Given the description of an element on the screen output the (x, y) to click on. 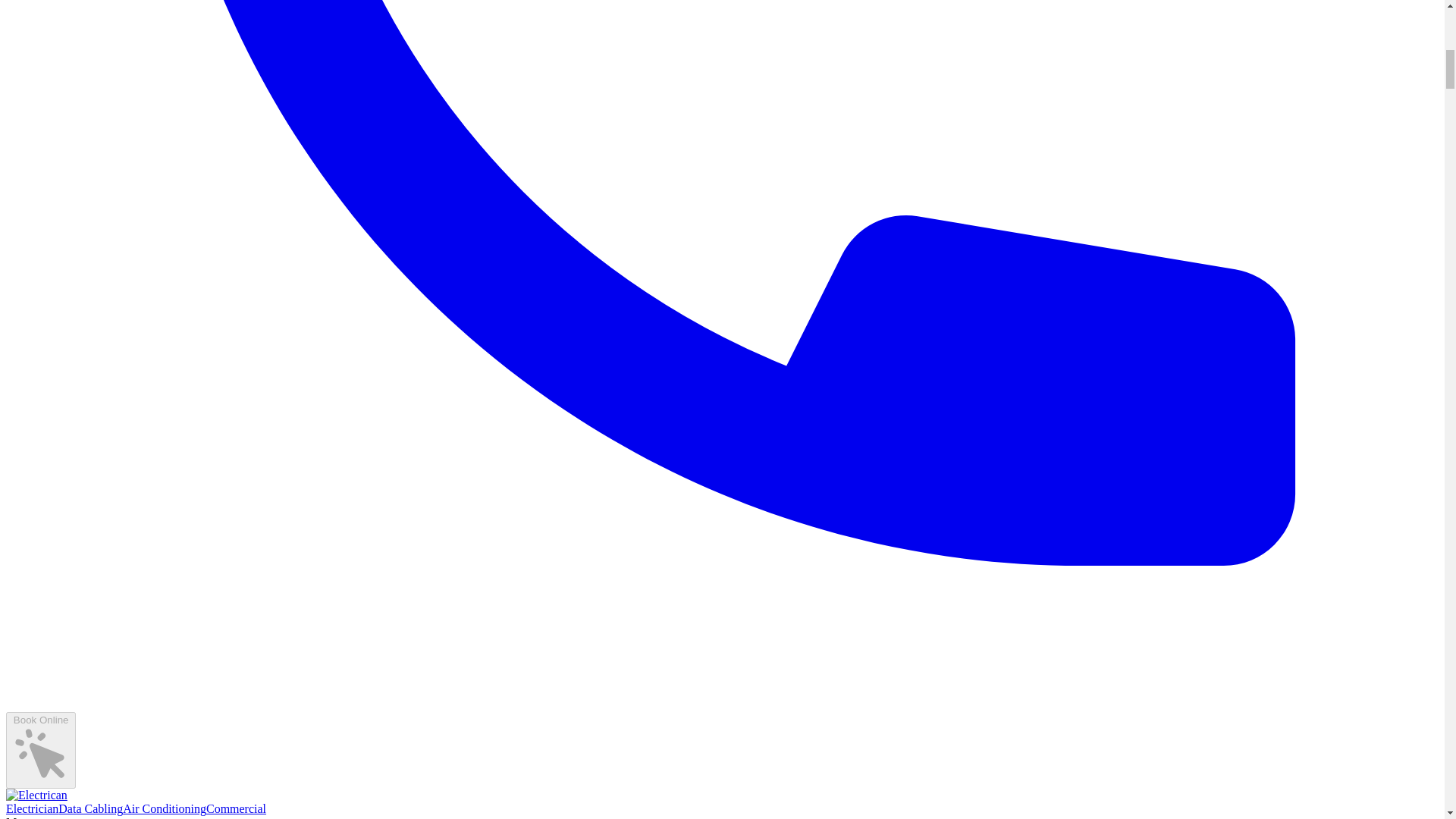
Data Cabling (90, 808)
Electrician (31, 808)
Commercial (236, 808)
First Call Electrical Home (35, 794)
Air Conditioning (164, 808)
Contact 1st Call Electrical (40, 749)
Data Cabling (90, 808)
Electrician (31, 808)
Commercial (236, 808)
Book Online (40, 749)
